Given the description of an element on the screen output the (x, y) to click on. 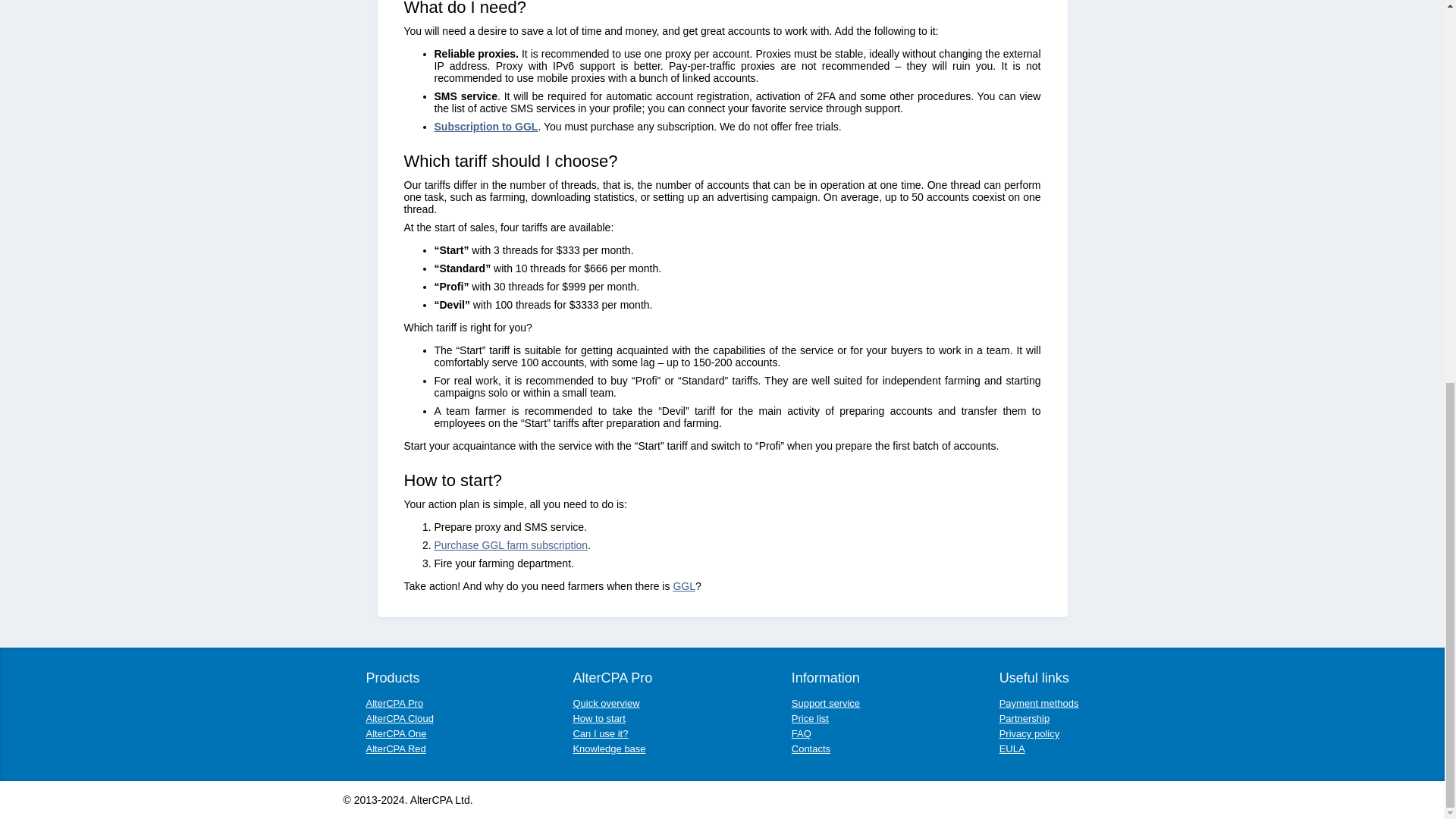
Purchase GGL farm subscription (510, 544)
Subscription to GGL (485, 126)
AlterCPA Red (395, 748)
Support service (826, 703)
Can I use it? (599, 733)
Knowledge base (608, 748)
AlterCPA Cloud (398, 717)
Quick overview (605, 703)
AlterCPA One (395, 733)
GGL (683, 585)
AlterCPA Pro (394, 703)
How to start (598, 717)
